Given the description of an element on the screen output the (x, y) to click on. 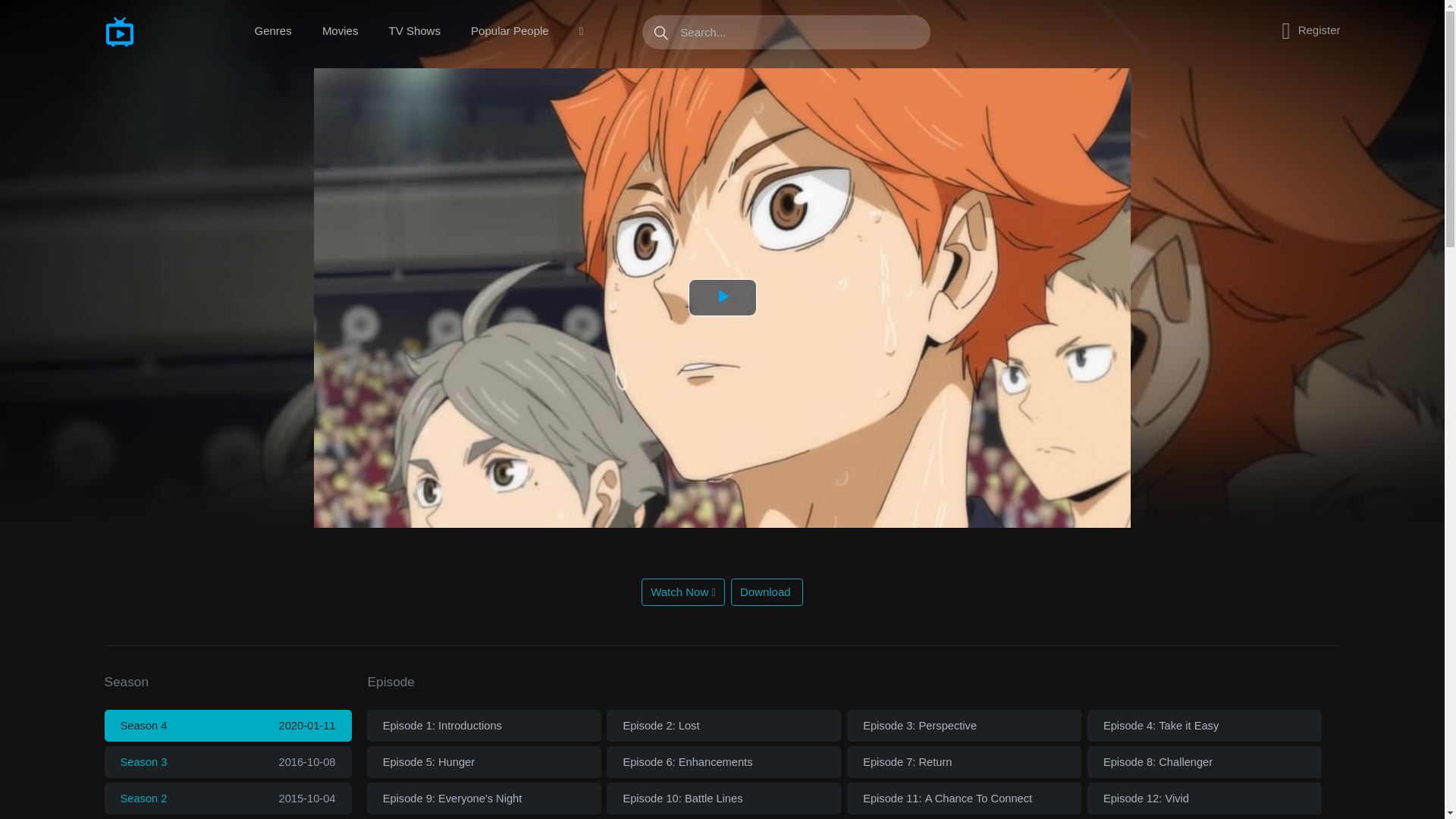
Popular People (509, 31)
Movies (340, 31)
Genres (273, 31)
Watch Movies Online Free (157, 31)
TV Shows (414, 31)
Movies (340, 31)
